Given the description of an element on the screen output the (x, y) to click on. 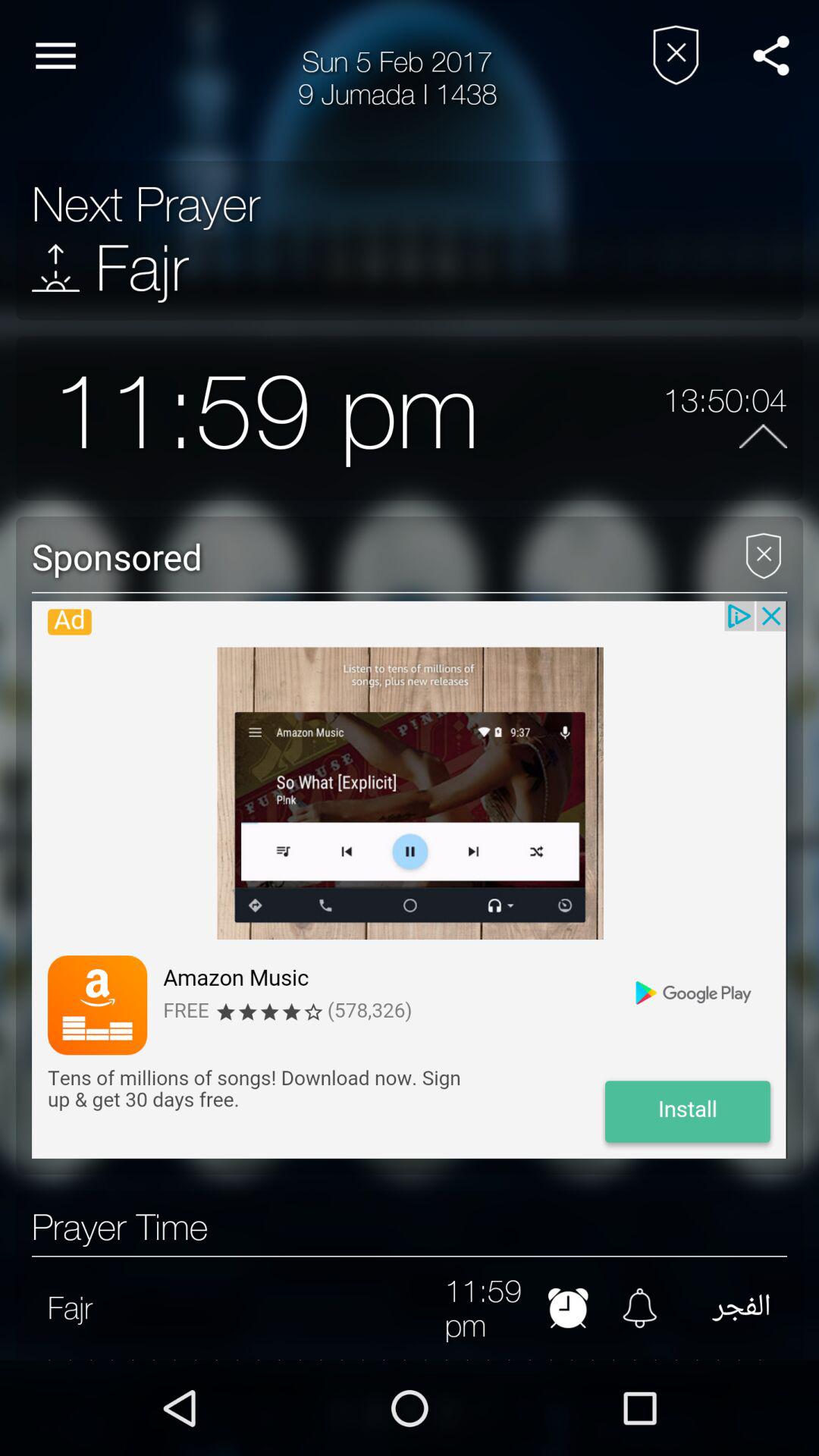
advertisement (409, 879)
